Given the description of an element on the screen output the (x, y) to click on. 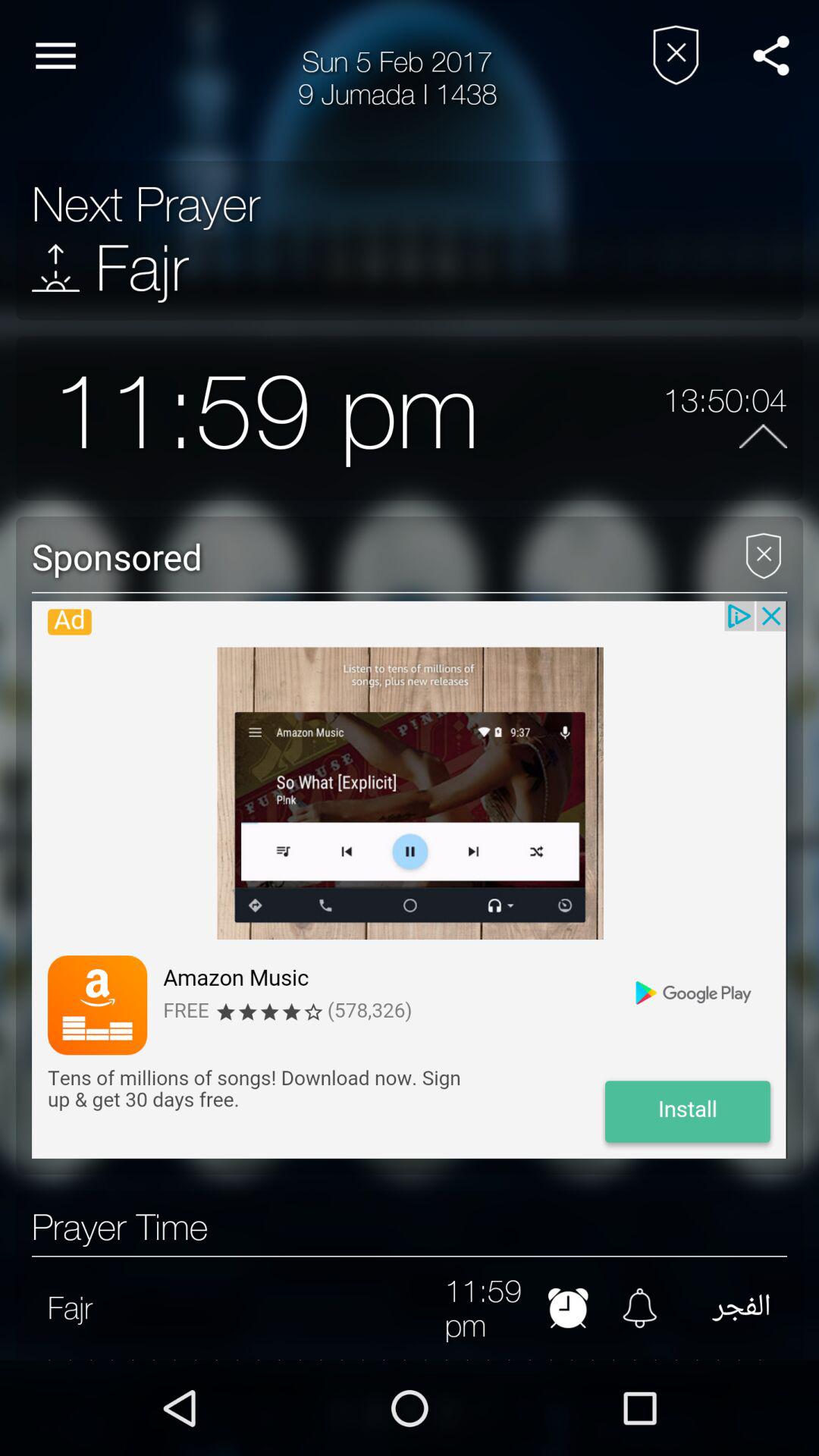
advertisement (409, 879)
